Given the description of an element on the screen output the (x, y) to click on. 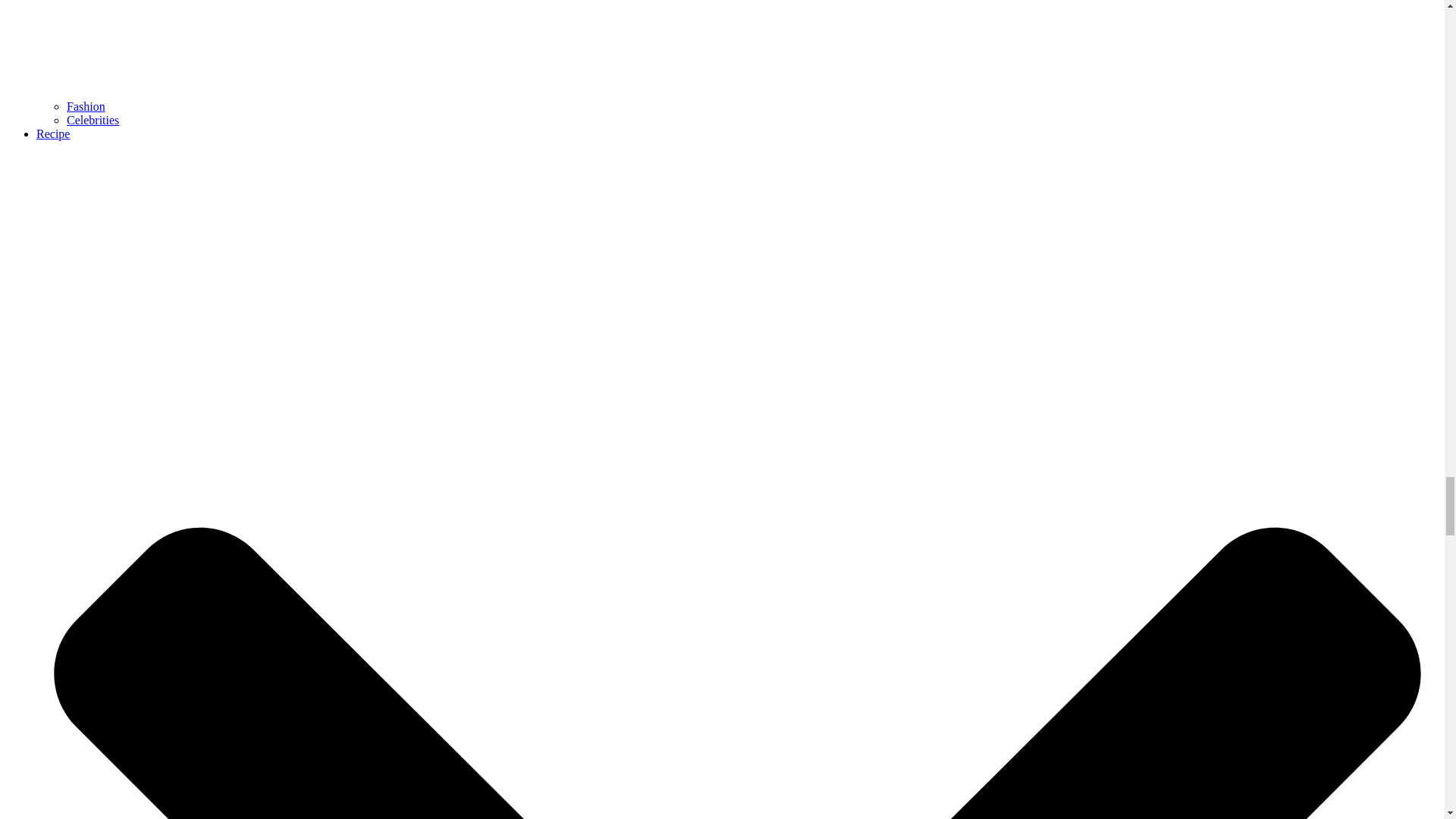
Celebrities (92, 119)
Fashion (85, 106)
Fashion (85, 106)
